Given the description of an element on the screen output the (x, y) to click on. 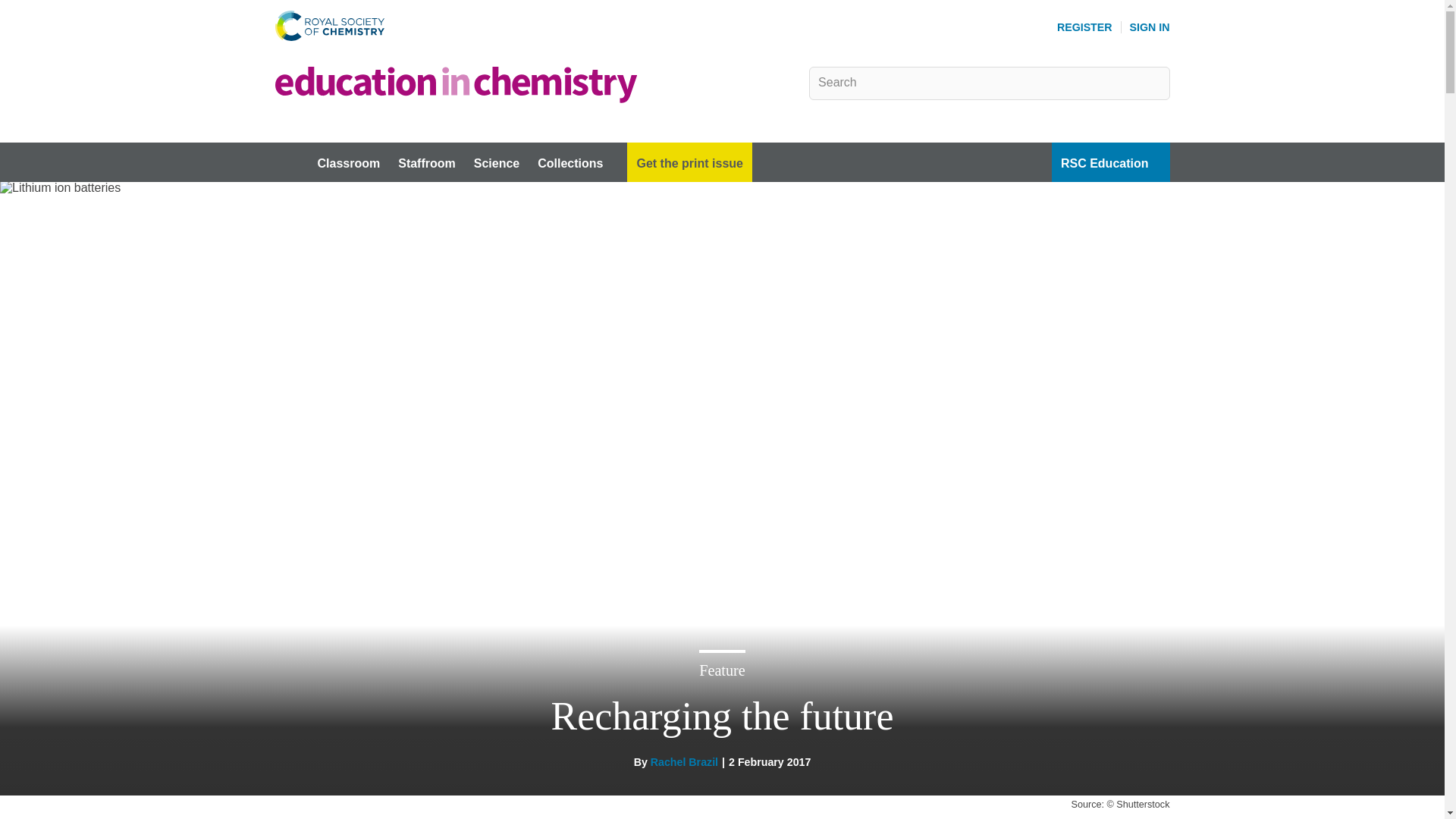
Collections (577, 161)
Classroom (347, 161)
Staffroom (426, 161)
REGISTER (1084, 27)
SIGN IN (1149, 27)
Science (496, 161)
SEARCH (1152, 82)
